Given the description of an element on the screen output the (x, y) to click on. 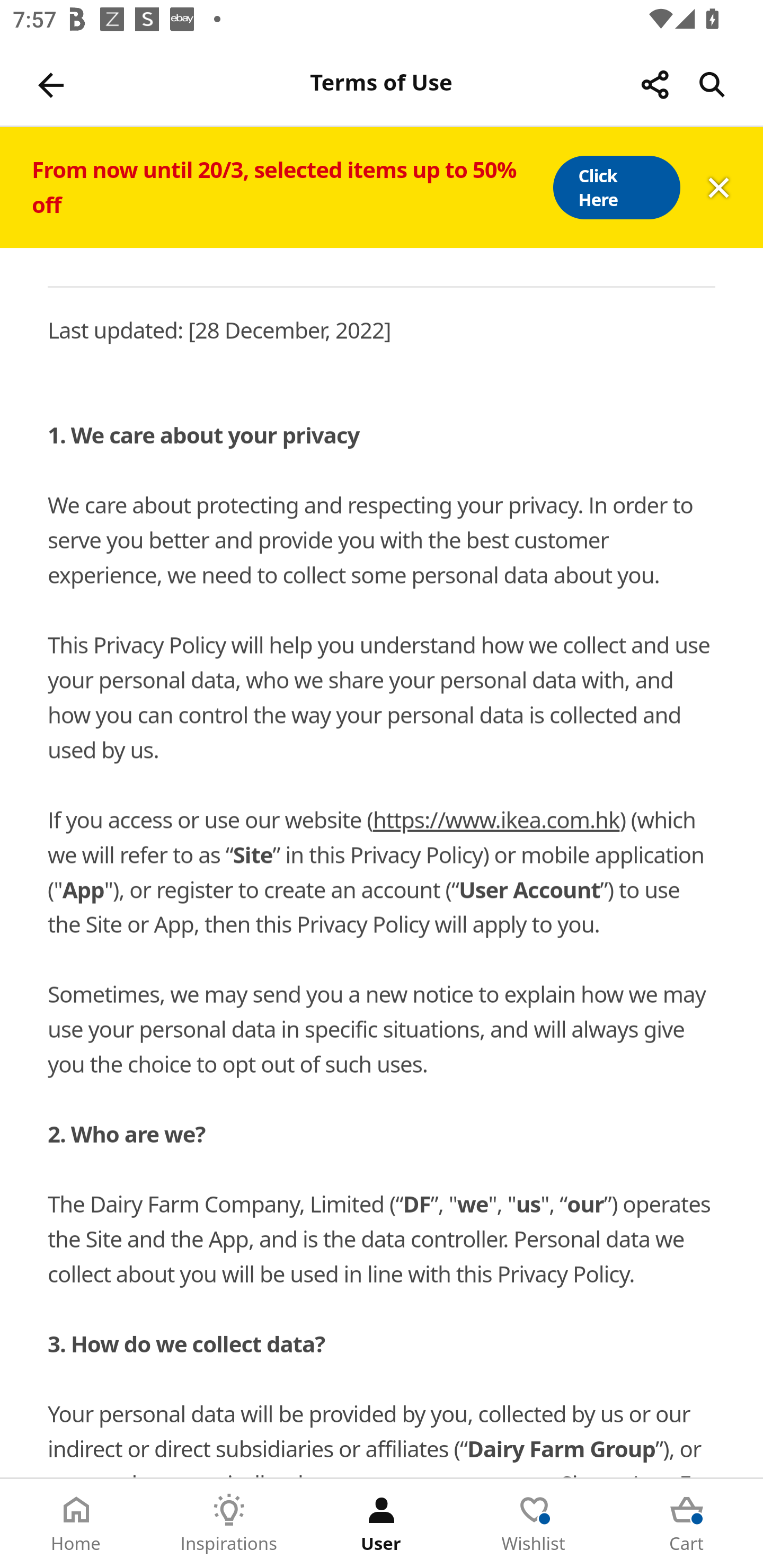
Click Here (615, 187)
https://www.ikea.com.hk (495, 819)
Home
Tab 1 of 5 (76, 1522)
Inspirations
Tab 2 of 5 (228, 1522)
User
Tab 3 of 5 (381, 1522)
Wishlist
Tab 4 of 5 (533, 1522)
Cart
Tab 5 of 5 (686, 1522)
